Given the description of an element on the screen output the (x, y) to click on. 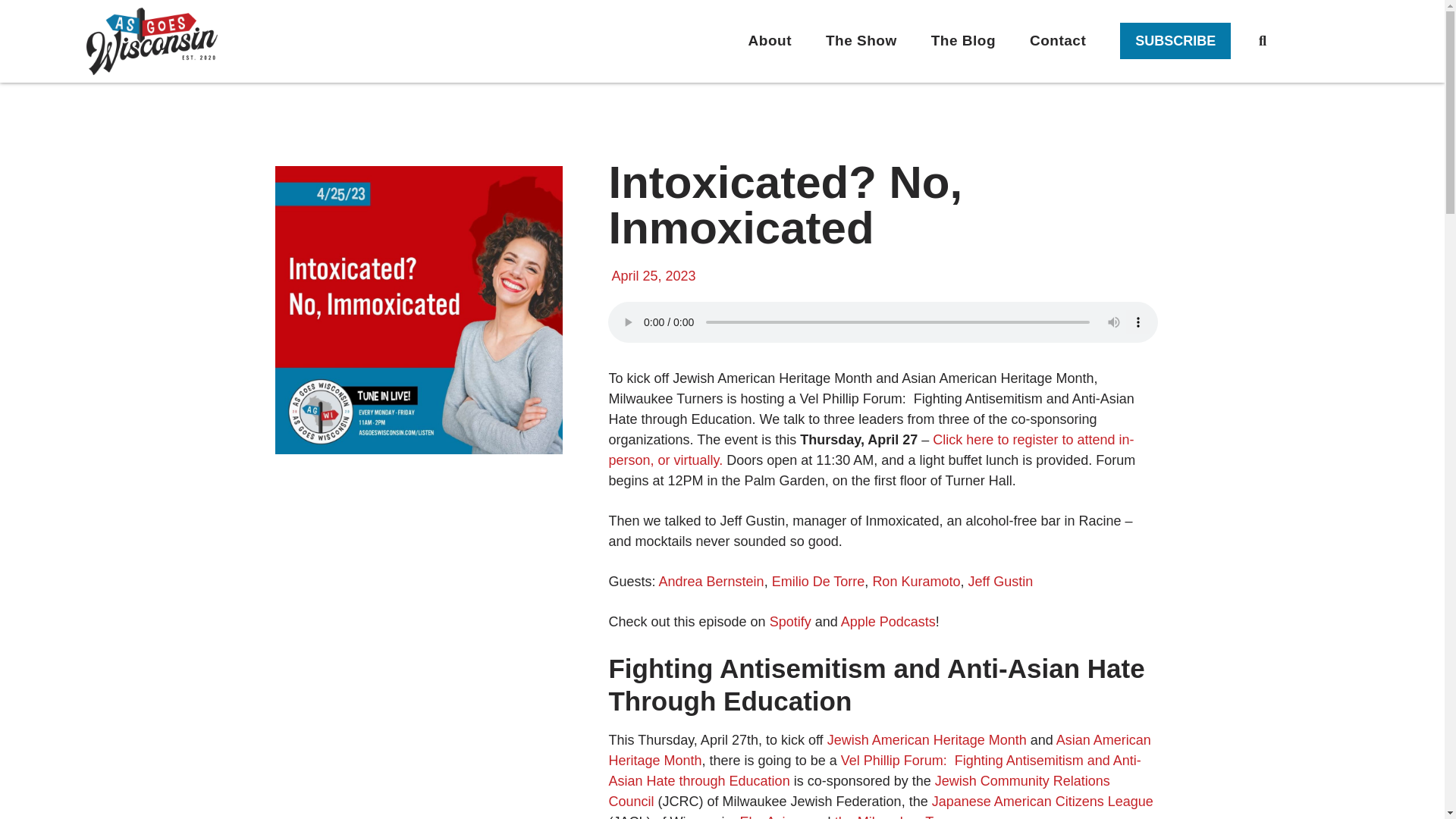
Contact (1057, 40)
intoxicated or immoxicated (418, 310)
Jewish Community Relations Council (858, 791)
About (770, 40)
The Blog (963, 40)
Ron Kuramoto (915, 581)
Apple Podcasts (888, 621)
Fighting Antisemitism and Anti-Asian Hate through Education (874, 770)
The Show (861, 40)
Emilio De Torre (817, 581)
Spotify (790, 621)
Jewish American Heritage Month (926, 739)
Asian American Heritage Month (879, 750)
Andrea Bernstein (711, 581)
Jeff Gustin (1000, 581)
